Given the description of an element on the screen output the (x, y) to click on. 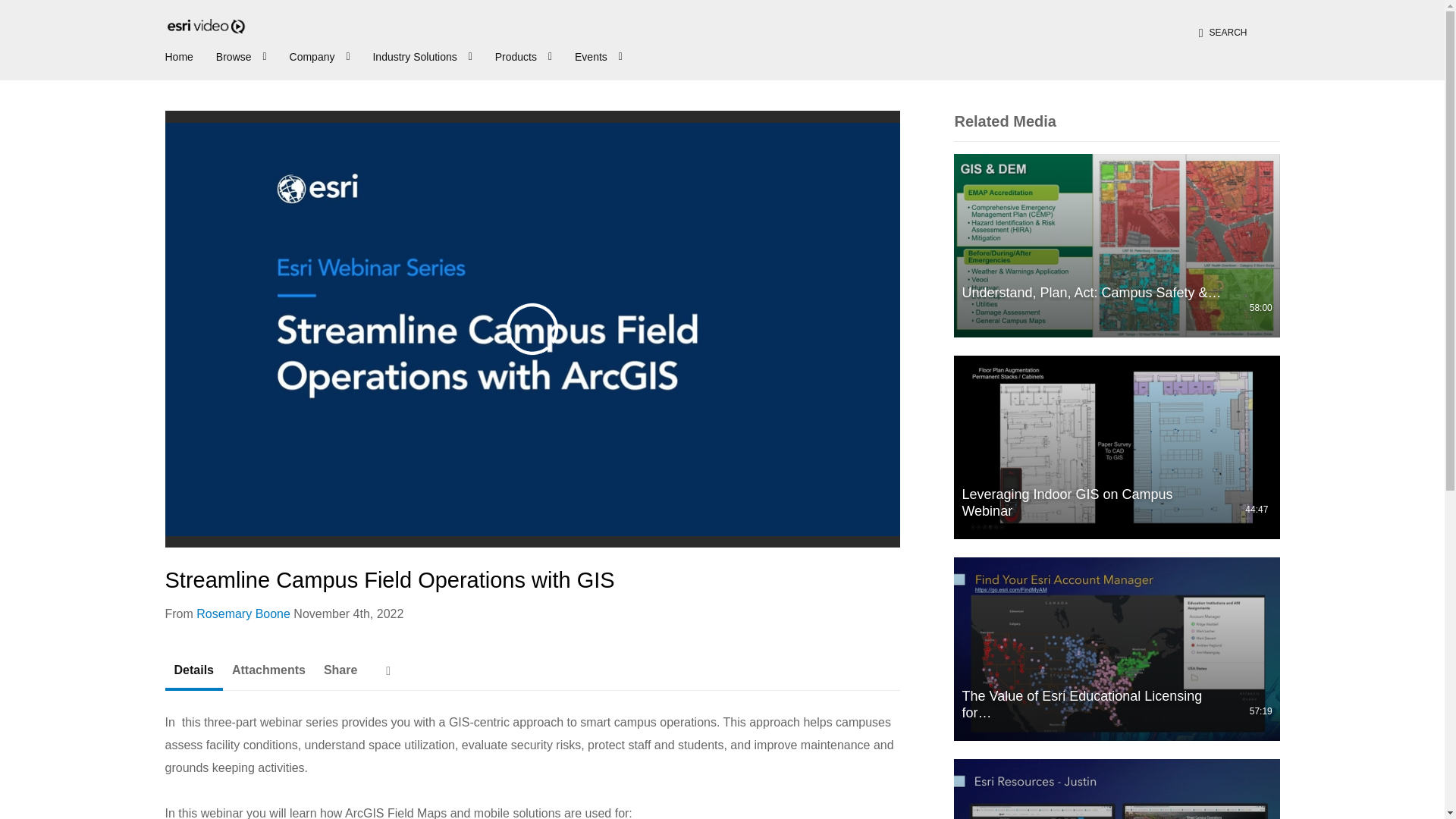
Develop a Geospatial Strategy for Campus Operations (1116, 789)
Company (321, 54)
Industry Solutions (424, 54)
Browse (242, 54)
SEARCH (1223, 31)
Leveraging Indoor GIS on Campus Webinar (1116, 446)
Home (179, 54)
